Given the description of an element on the screen output the (x, y) to click on. 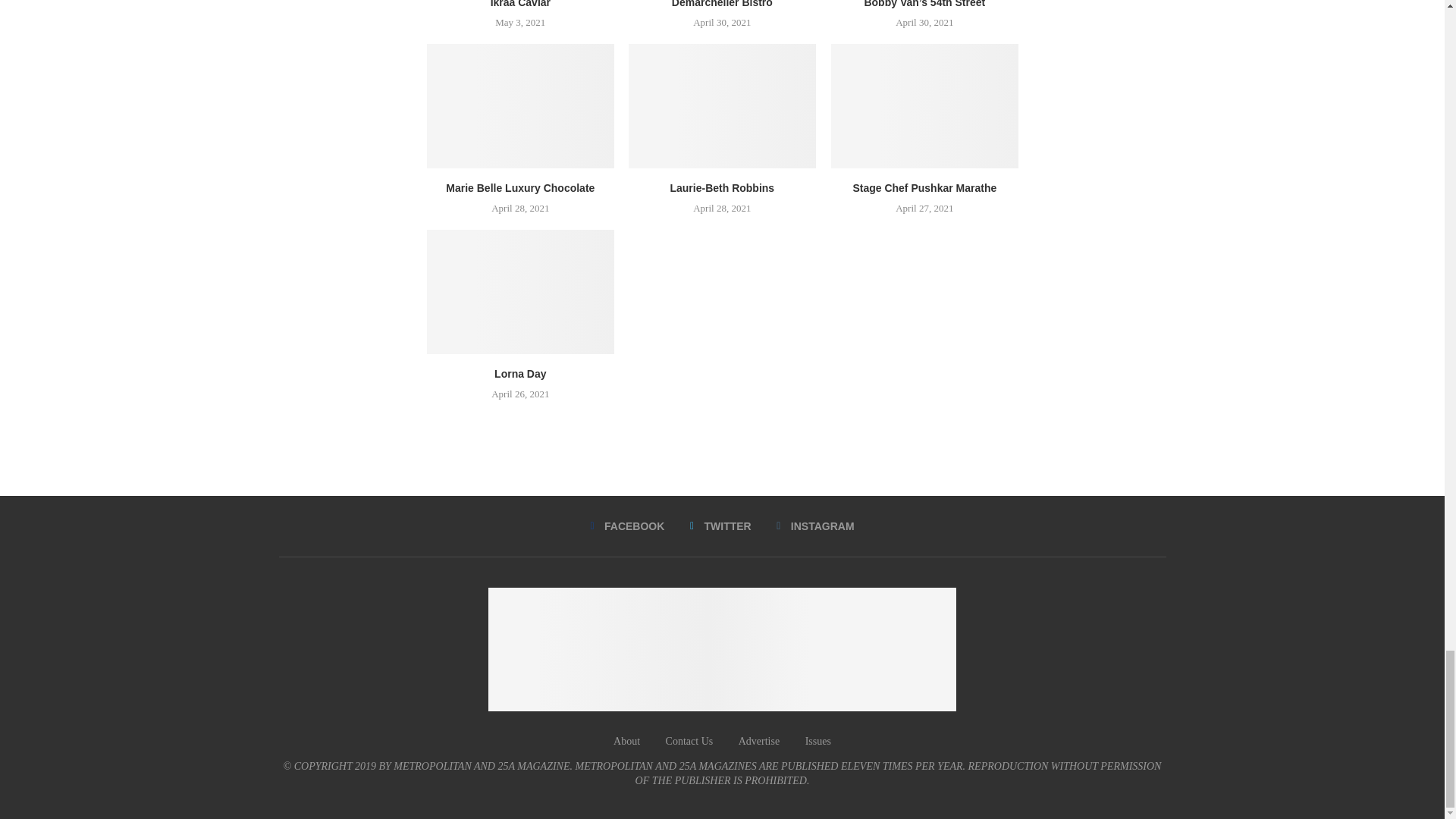
Laurie-Beth Robbins (721, 106)
Stage Chef Pushkar Marathe (924, 106)
Lorna Day (519, 291)
Marie Belle Luxury Chocolate (519, 106)
